Given the description of an element on the screen output the (x, y) to click on. 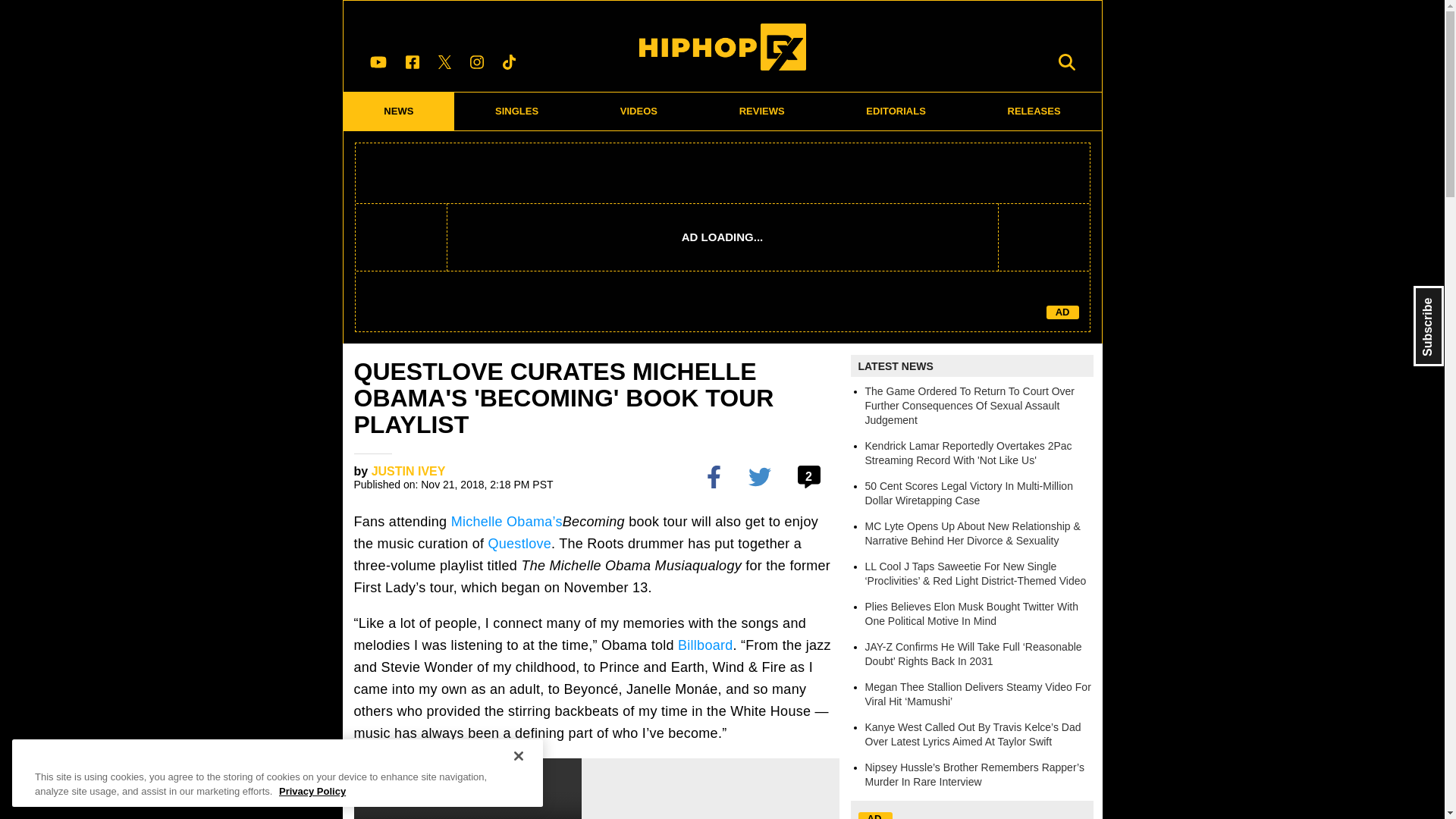
JUSTIN IVEY (408, 471)
2 (810, 477)
Billboard (705, 645)
Questlove (519, 543)
NEWS (398, 111)
VIDEOS (638, 111)
REVIEWS (761, 111)
SINGLES (516, 111)
EDITORIALS (895, 111)
RELEASES (1034, 111)
